Given the description of an element on the screen output the (x, y) to click on. 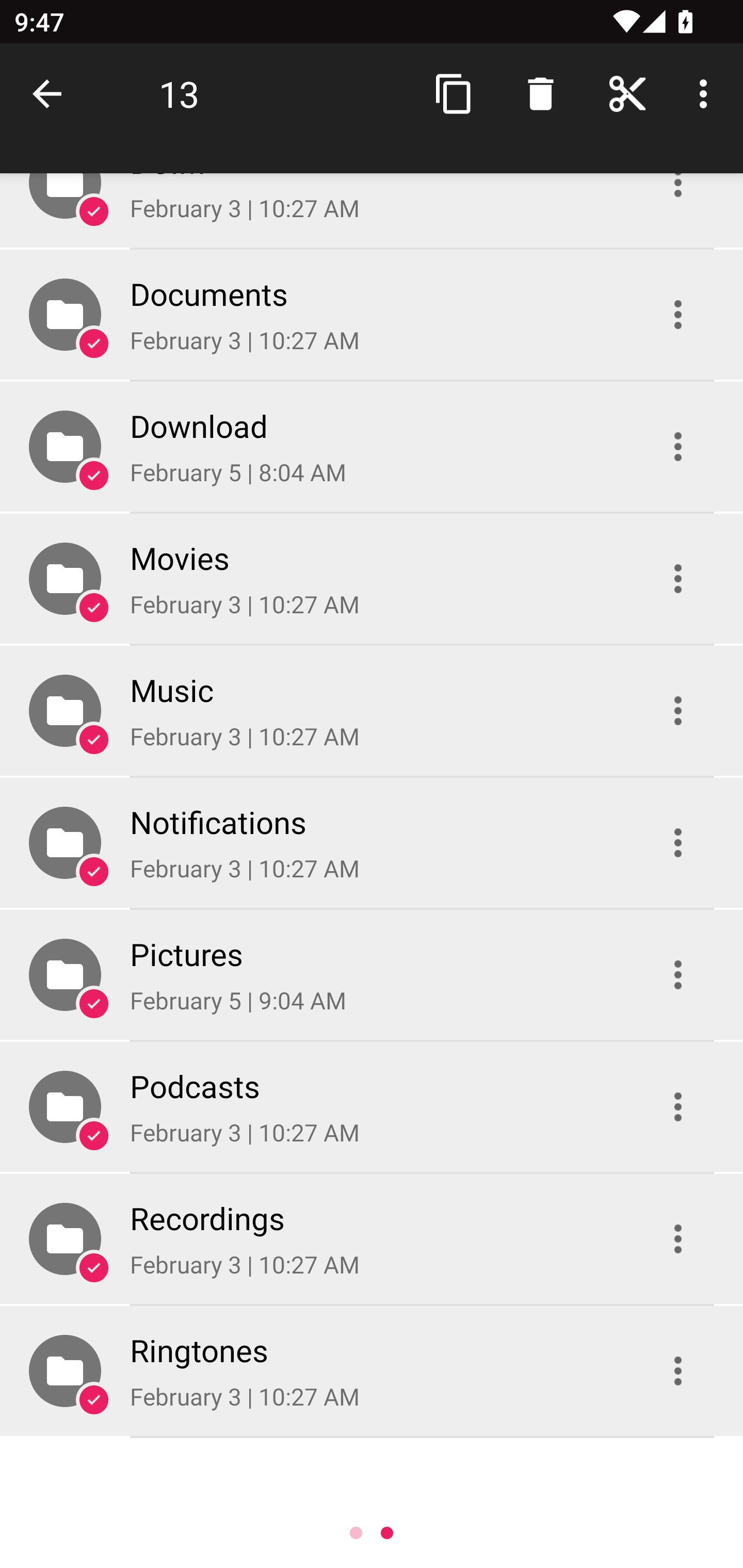
13 (179, 93)
Done (50, 93)
Copy (453, 93)
Delete (540, 93)
Cut (626, 93)
More options (706, 93)
DCIM February 3 | 10:27 AM (371, 210)
Documents February 3 | 10:27 AM (371, 314)
Download February 5 | 8:04 AM (371, 446)
Movies February 3 | 10:27 AM (371, 579)
Music February 3 | 10:27 AM (371, 711)
Notifications February 3 | 10:27 AM (371, 842)
Pictures February 5 | 9:04 AM (371, 974)
Podcasts February 3 | 10:27 AM (371, 1106)
Recordings February 3 | 10:27 AM (371, 1239)
Ringtones February 3 | 10:27 AM (371, 1371)
